Given the description of an element on the screen output the (x, y) to click on. 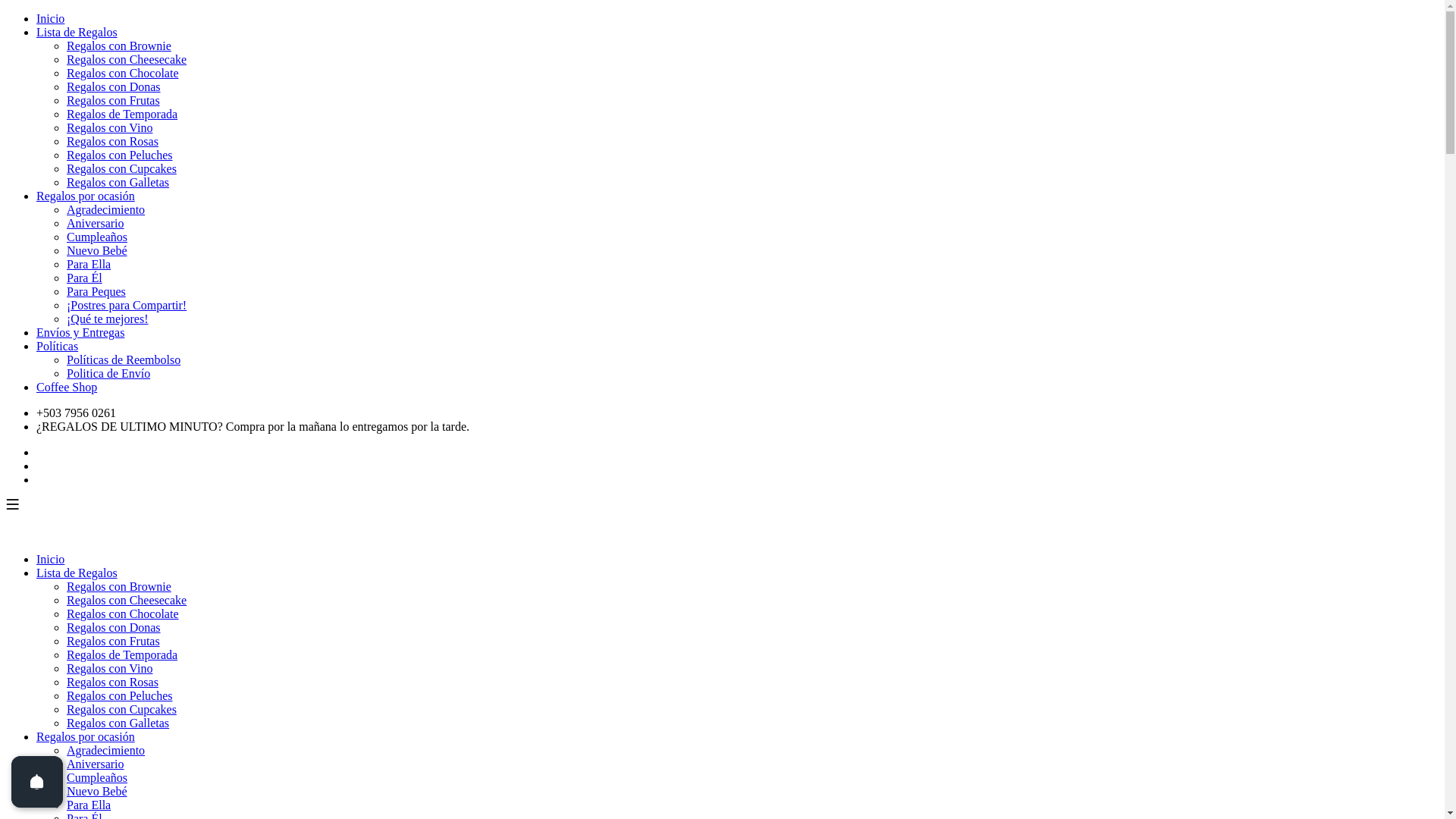
Regalos de Temporada Element type: text (121, 113)
Regalos con Vino Element type: text (109, 127)
Para Ella Element type: text (88, 804)
Regalos con Frutas Element type: text (113, 640)
Regalos con Frutas Element type: text (113, 100)
Regalos con Cupcakes Element type: text (121, 708)
Regalos con Chocolate Element type: text (122, 72)
Regalos con Galletas Element type: text (117, 181)
Aniversario Element type: text (95, 222)
Regalos con Brownie Element type: text (118, 45)
Regalos con Cupcakes Element type: text (121, 168)
Regalos con Rosas Element type: text (112, 681)
Regalos con Cheesecake Element type: text (126, 599)
Para Peques Element type: text (95, 291)
Regalos con Vino Element type: text (109, 668)
Inicio Element type: text (50, 558)
Regalos con Peluches Element type: text (119, 154)
Regalos con Chocolate Element type: text (122, 613)
Regalos con Galletas Element type: text (117, 722)
Agradecimiento Element type: text (105, 209)
Coffee Shop Element type: text (66, 386)
Lista de Regalos Element type: text (76, 31)
Regalos con Cheesecake Element type: text (126, 59)
Regalos de Temporada Element type: text (121, 654)
Para Ella Element type: text (88, 263)
Regalos con Peluches Element type: text (119, 695)
Agradecimiento Element type: text (105, 749)
Regalos con Rosas Element type: text (112, 140)
Lista de Regalos Element type: text (76, 572)
Aniversario Element type: text (95, 763)
Regalos con Brownie Element type: text (118, 586)
Inicio Element type: text (50, 18)
Regalos con Donas Element type: text (113, 86)
Regalos con Donas Element type: text (113, 627)
